Given the description of an element on the screen output the (x, y) to click on. 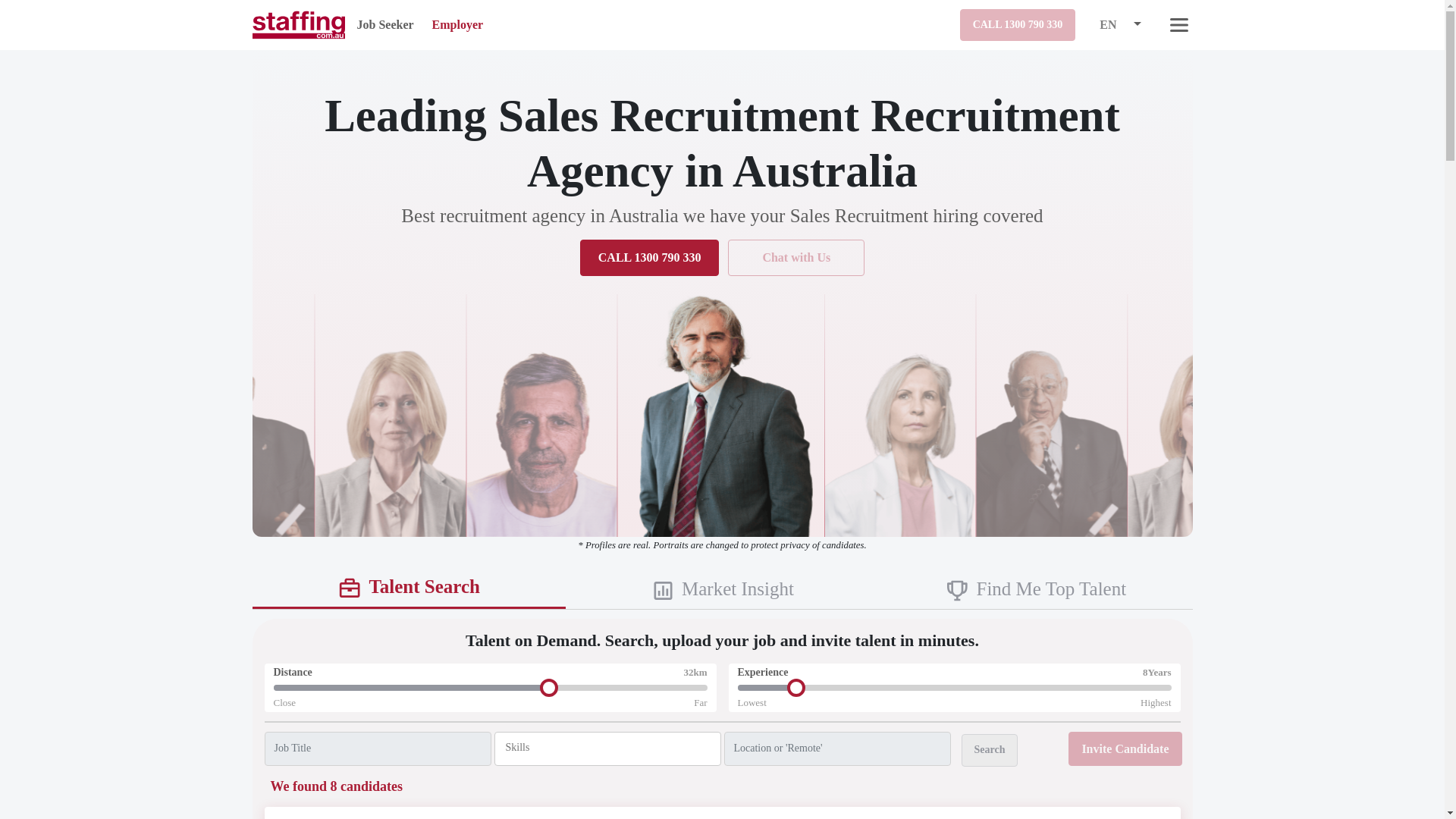
CALL 1300 790 330 (1017, 25)
Find Me Top Talent (1035, 590)
CALL 1300 790 330 (649, 257)
Employer (457, 24)
Market Insight (722, 590)
Talent Search (407, 589)
Job Seeker (384, 24)
Invite Candidate (1124, 748)
EN (1107, 24)
Search (988, 749)
